Given the description of an element on the screen output the (x, y) to click on. 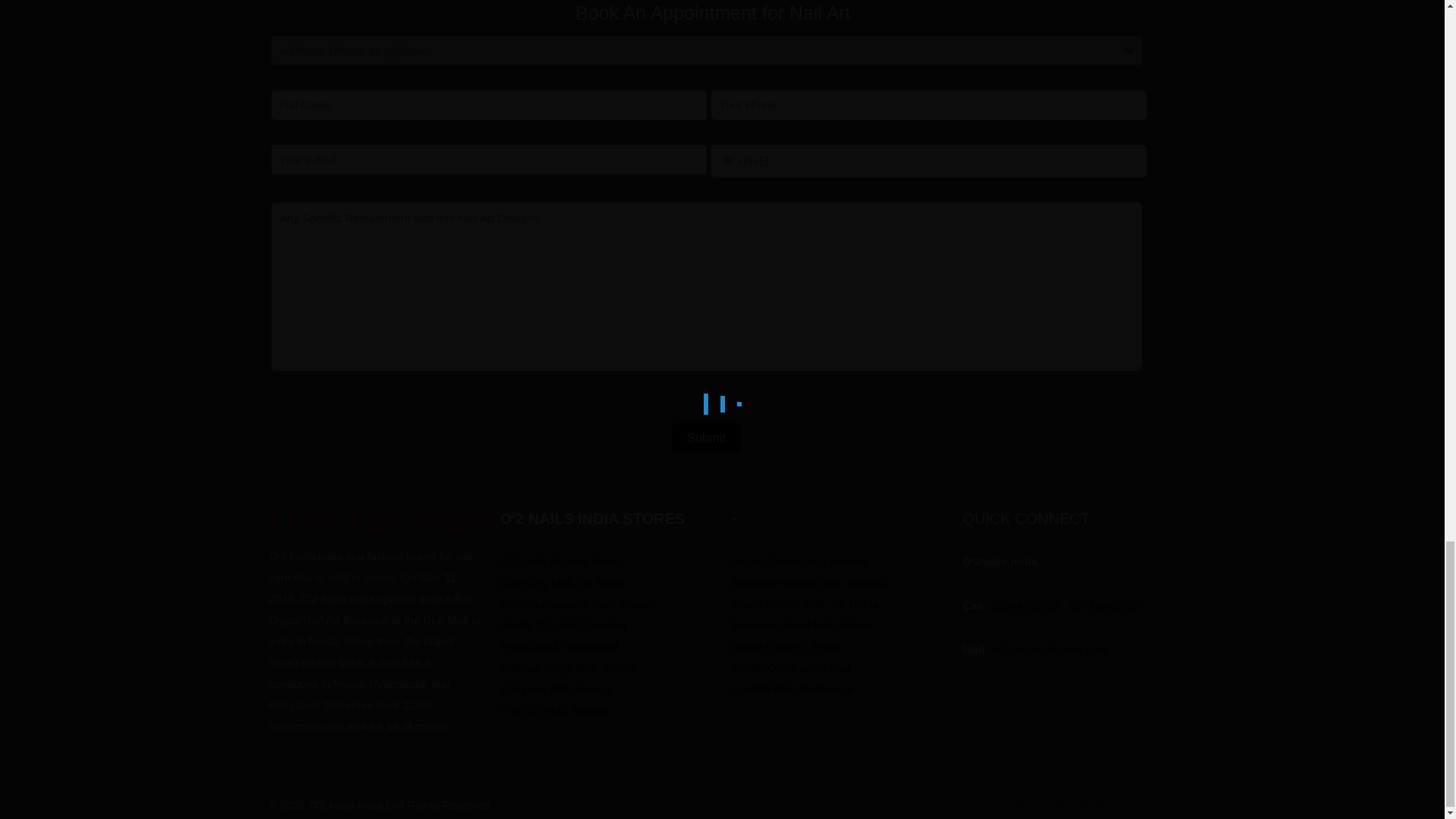
Pinterest (1081, 804)
Submit (706, 437)
Facebook (1040, 804)
WhatsApp (1019, 804)
Instagram (1101, 804)
LinkedIn (1060, 804)
